Given the description of an element on the screen output the (x, y) to click on. 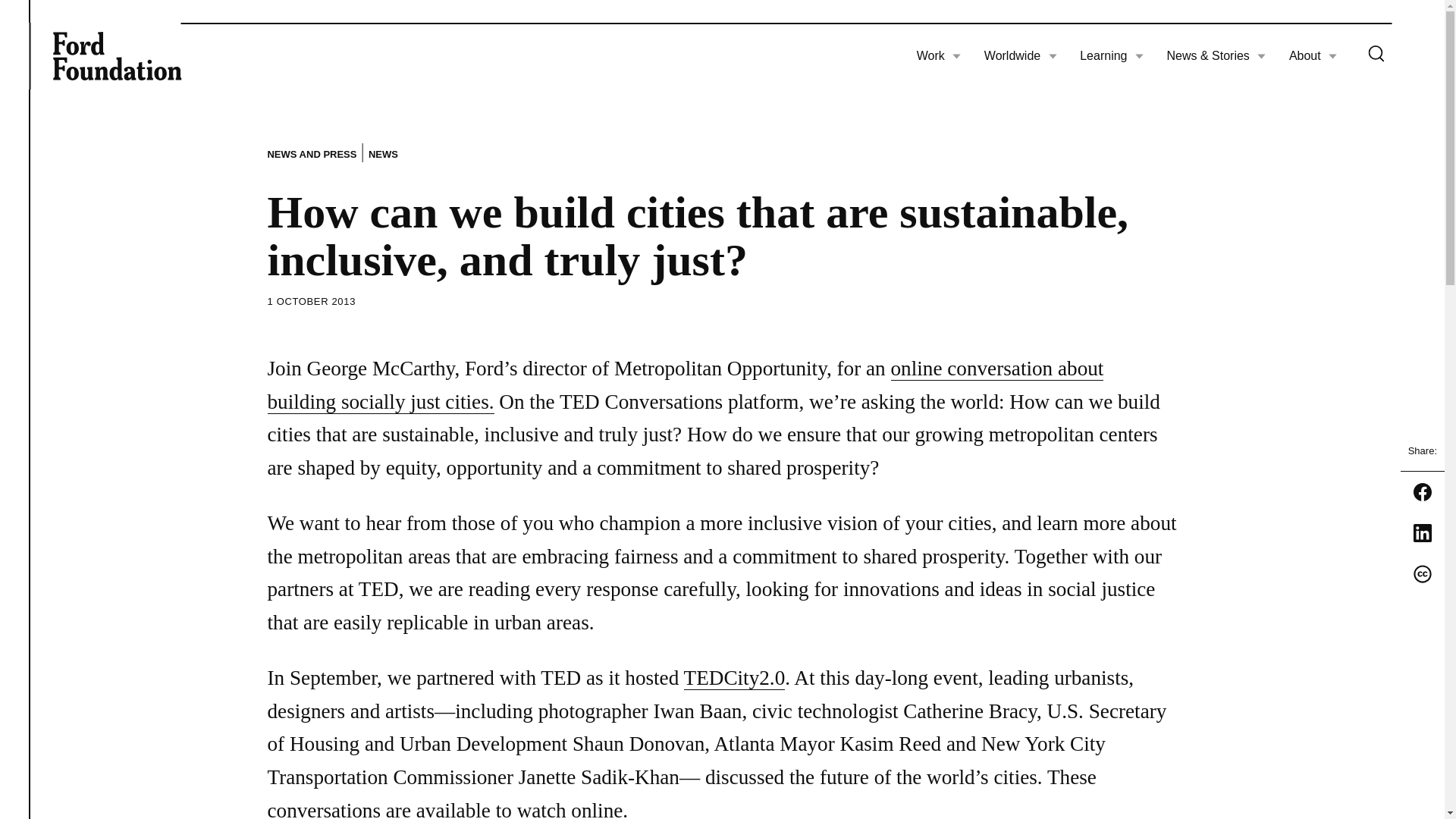
Work (938, 55)
Worldwide (1020, 55)
Learning (1111, 55)
